Given the description of an element on the screen output the (x, y) to click on. 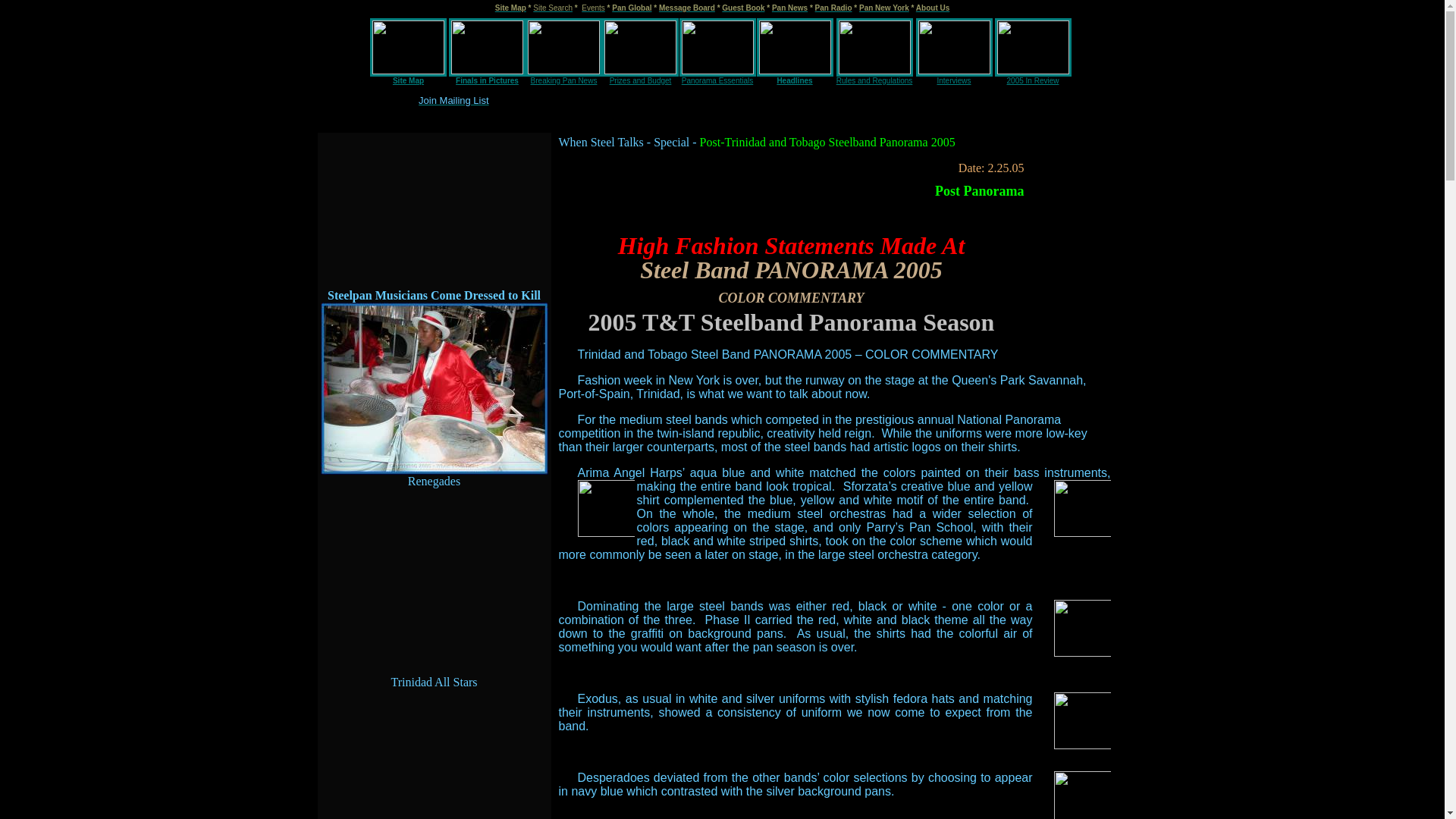
About Us (932, 8)
Guest Book (743, 8)
Pan Global (630, 8)
Pan New York (883, 8)
Panorama Essentials (717, 80)
Pan News (789, 8)
Pan Radio (833, 8)
2005 In Review (1033, 80)
Site Map (510, 8)
Site Search (552, 8)
Rules and Regulations (873, 80)
Prizes and Budget (640, 80)
Headlines (794, 80)
Events (592, 6)
Site Map (408, 80)
